Given the description of an element on the screen output the (x, y) to click on. 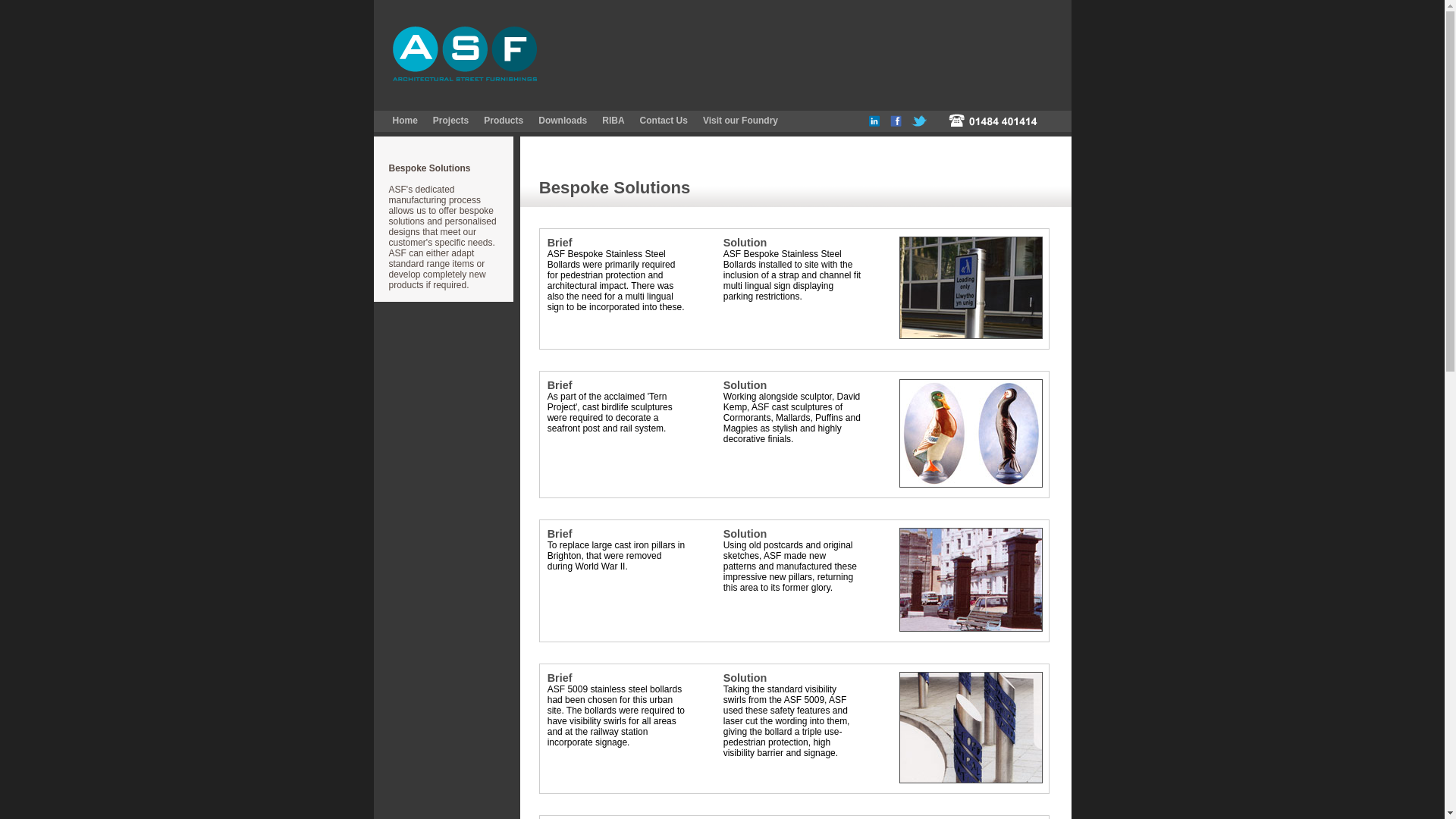
Home (405, 120)
Projects (450, 120)
Downloads (562, 120)
Contact Us (663, 120)
Join us on twitter! (924, 122)
RIBA (613, 120)
Products (502, 120)
Visit our Foundry (740, 120)
